Given the description of an element on the screen output the (x, y) to click on. 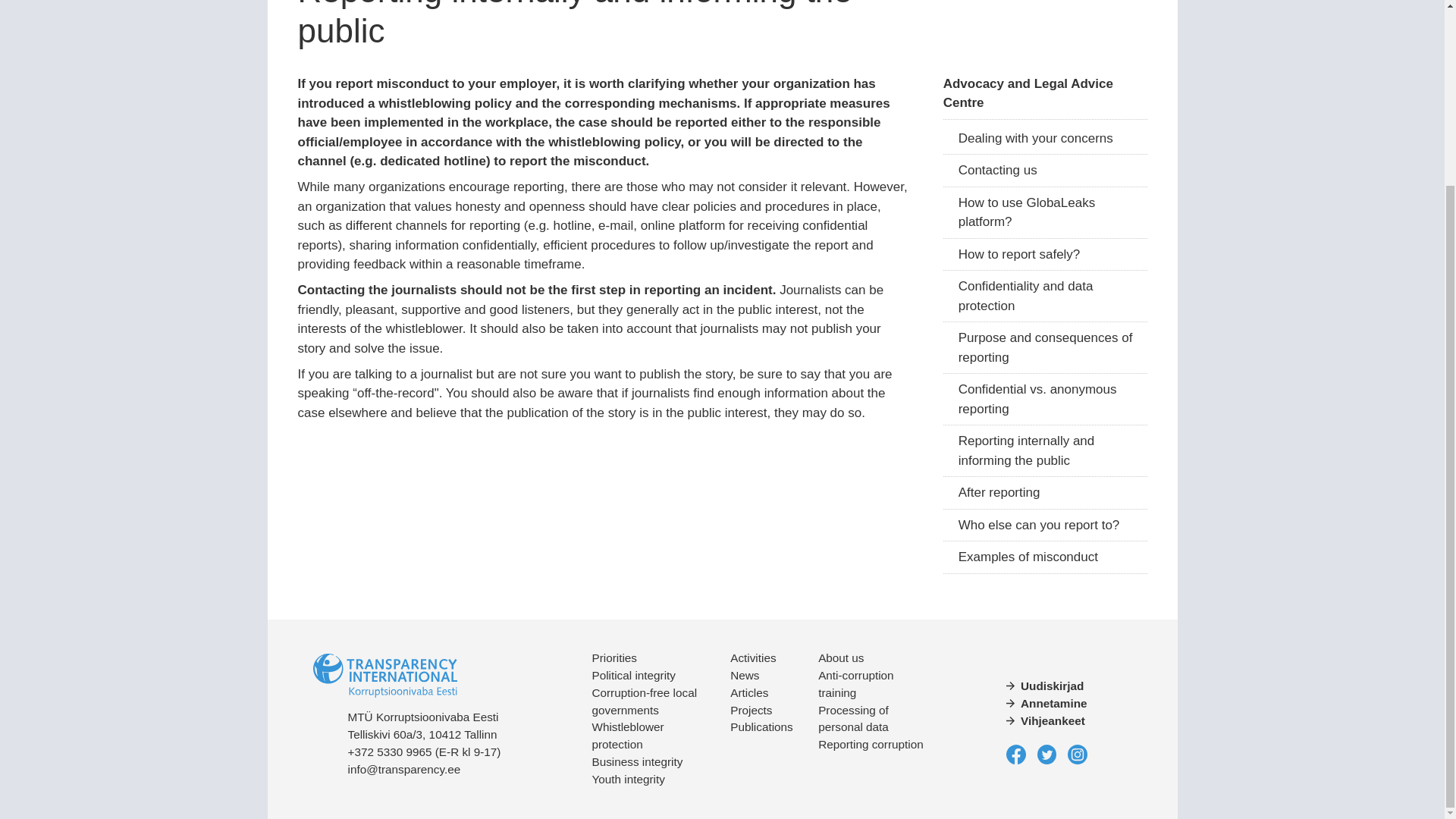
Confidentiality and data protection (1045, 296)
Reporting internally and informing the public (1045, 450)
How to report safely? (1045, 255)
Political integrity (633, 675)
Confidential vs. anonymous reporting (1045, 399)
Whistleblower protection (627, 735)
Advocacy and Legal Advice Centre (1045, 93)
Dealing with your concerns (1045, 138)
How to use GlobaLeaks platform? (1045, 213)
Contacting us (1045, 170)
After reporting (1045, 492)
Priorities (614, 657)
Examples of misconduct (1045, 557)
Corruption-free local governments (644, 701)
Who else can you report to? (1045, 525)
